Given the description of an element on the screen output the (x, y) to click on. 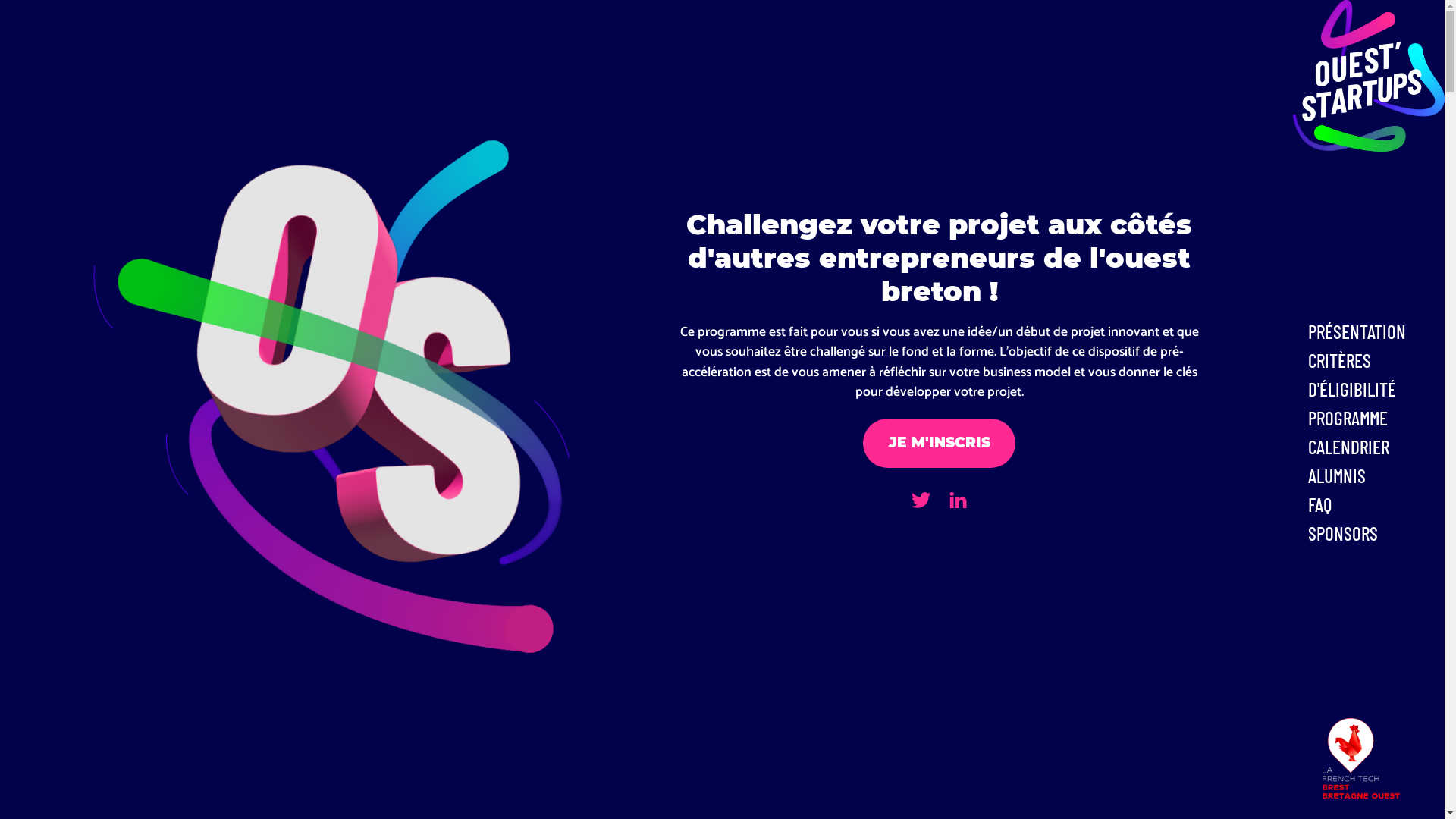
ALUMNIS Element type: text (1372, 475)
FAQ Element type: text (1372, 503)
CALENDRIER Element type: text (1372, 446)
SPONSORS Element type: text (1372, 532)
PROGRAMME Element type: text (1372, 417)
JE M'INSCRIS Element type: text (938, 442)
